Given the description of an element on the screen output the (x, y) to click on. 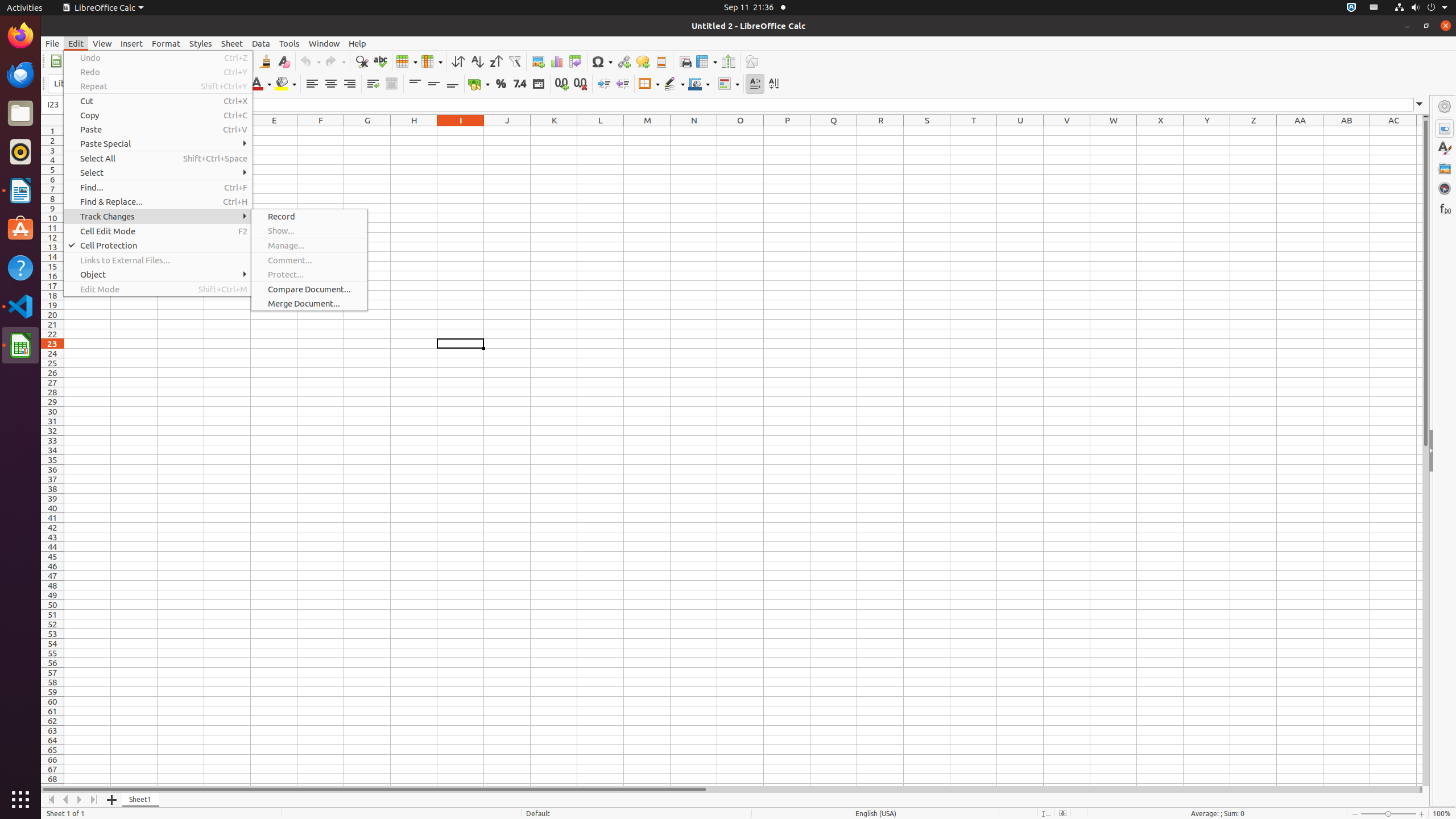
Freeze Rows and Columns Element type: push-button (705, 61)
Background Color Element type: push-button (285, 83)
M1 Element type: table-cell (646, 130)
Move Right Element type: push-button (79, 799)
P1 Element type: table-cell (786, 130)
